Given the description of an element on the screen output the (x, y) to click on. 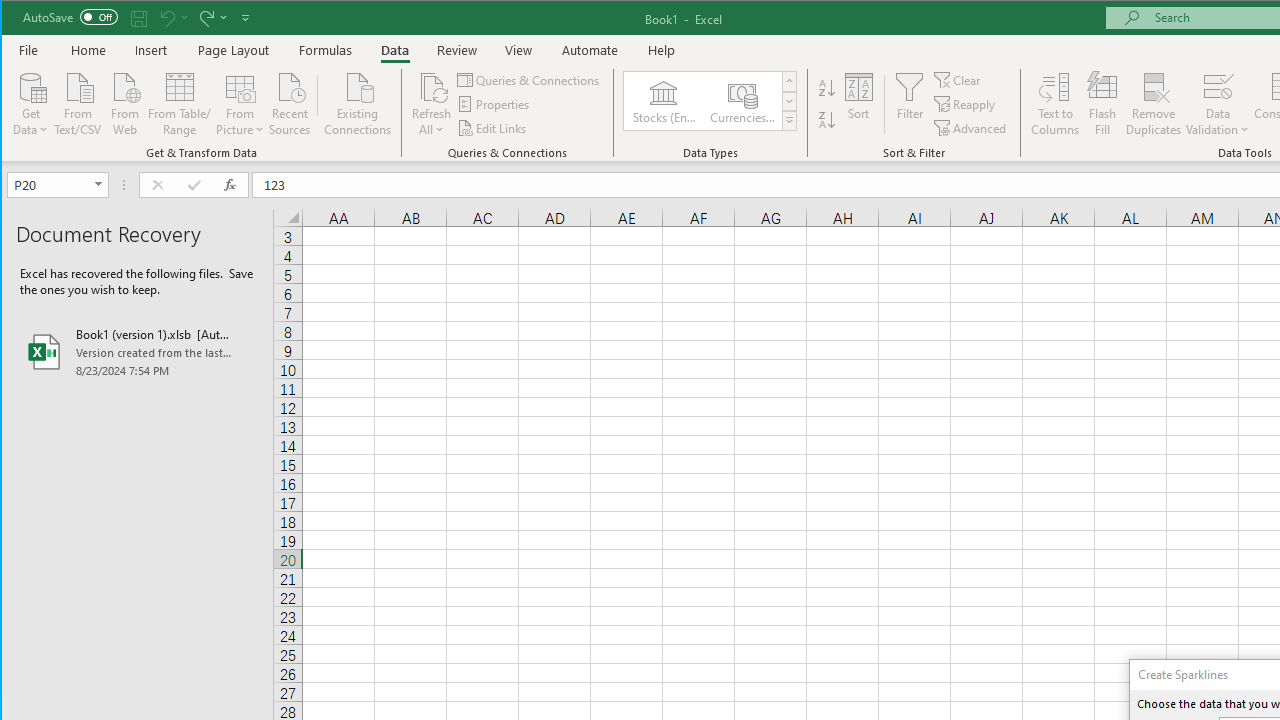
Reapply (966, 103)
Edit Links (493, 127)
Text to Columns... (1055, 104)
AutomationID: ConvertToLinkedEntity (711, 101)
Properties (495, 103)
Row Down (789, 101)
Filter (909, 104)
Sort... (859, 104)
Advanced... (971, 127)
Data Types (789, 120)
